Given the description of an element on the screen output the (x, y) to click on. 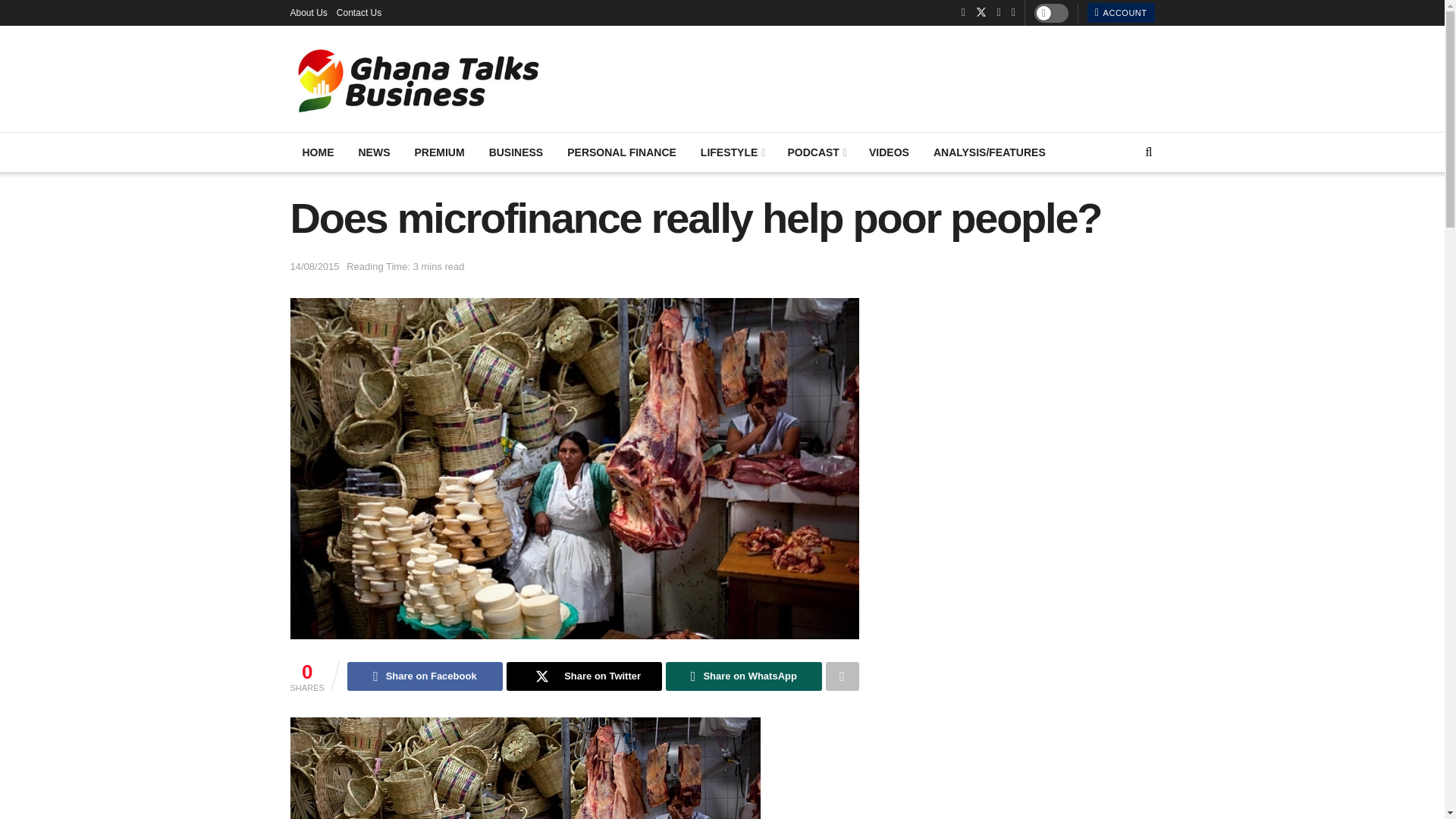
BUSINESS (516, 151)
PODCAST (815, 151)
PREMIUM (438, 151)
About Us (307, 12)
LIFESTYLE (732, 151)
NEWS (373, 151)
ACCOUNT (1120, 12)
VIDEOS (889, 151)
HOME (317, 151)
PERSONAL FINANCE (621, 151)
Contact Us (358, 12)
